Given the description of an element on the screen output the (x, y) to click on. 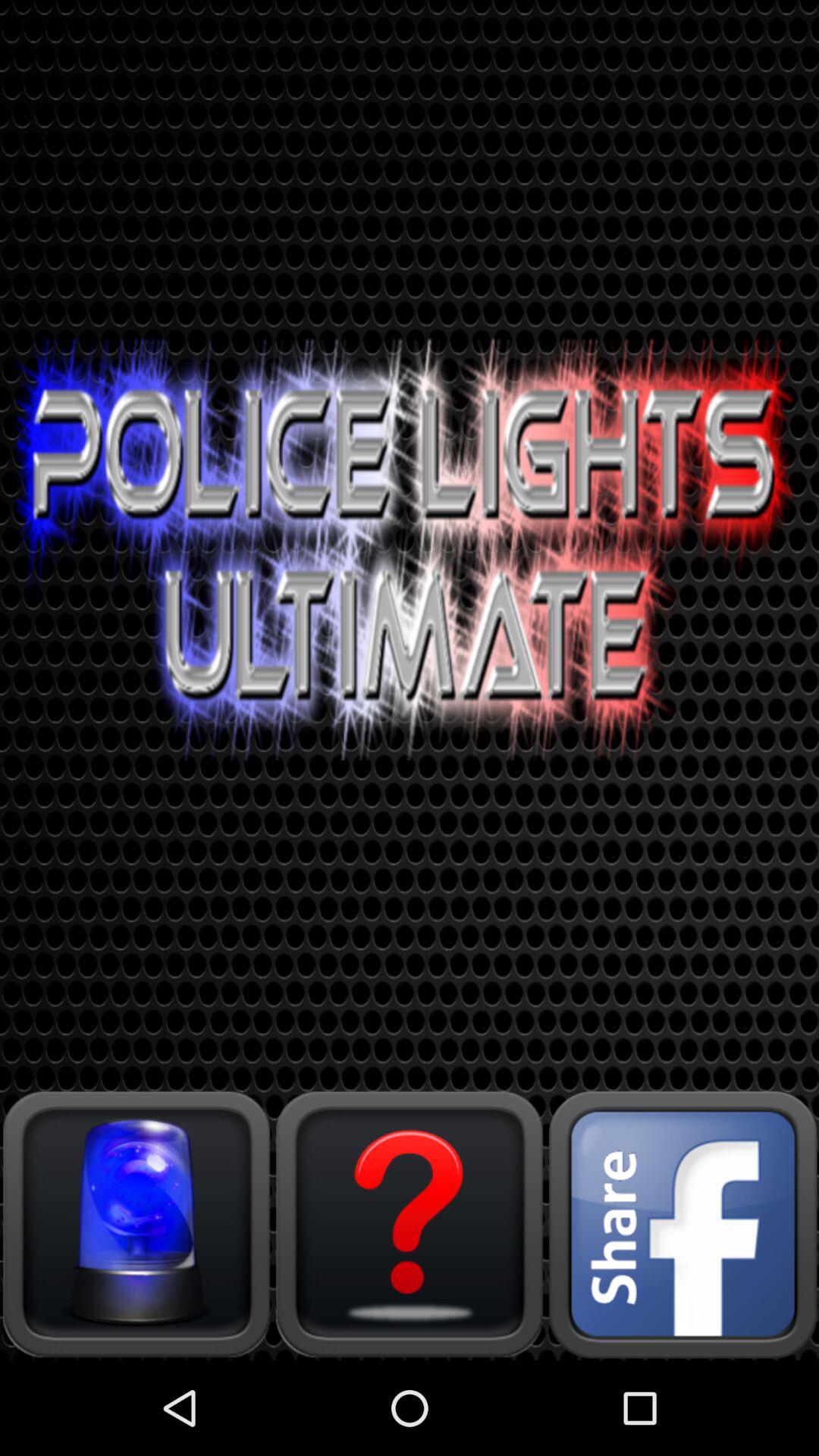
play police lights ultimate (136, 1223)
